Given the description of an element on the screen output the (x, y) to click on. 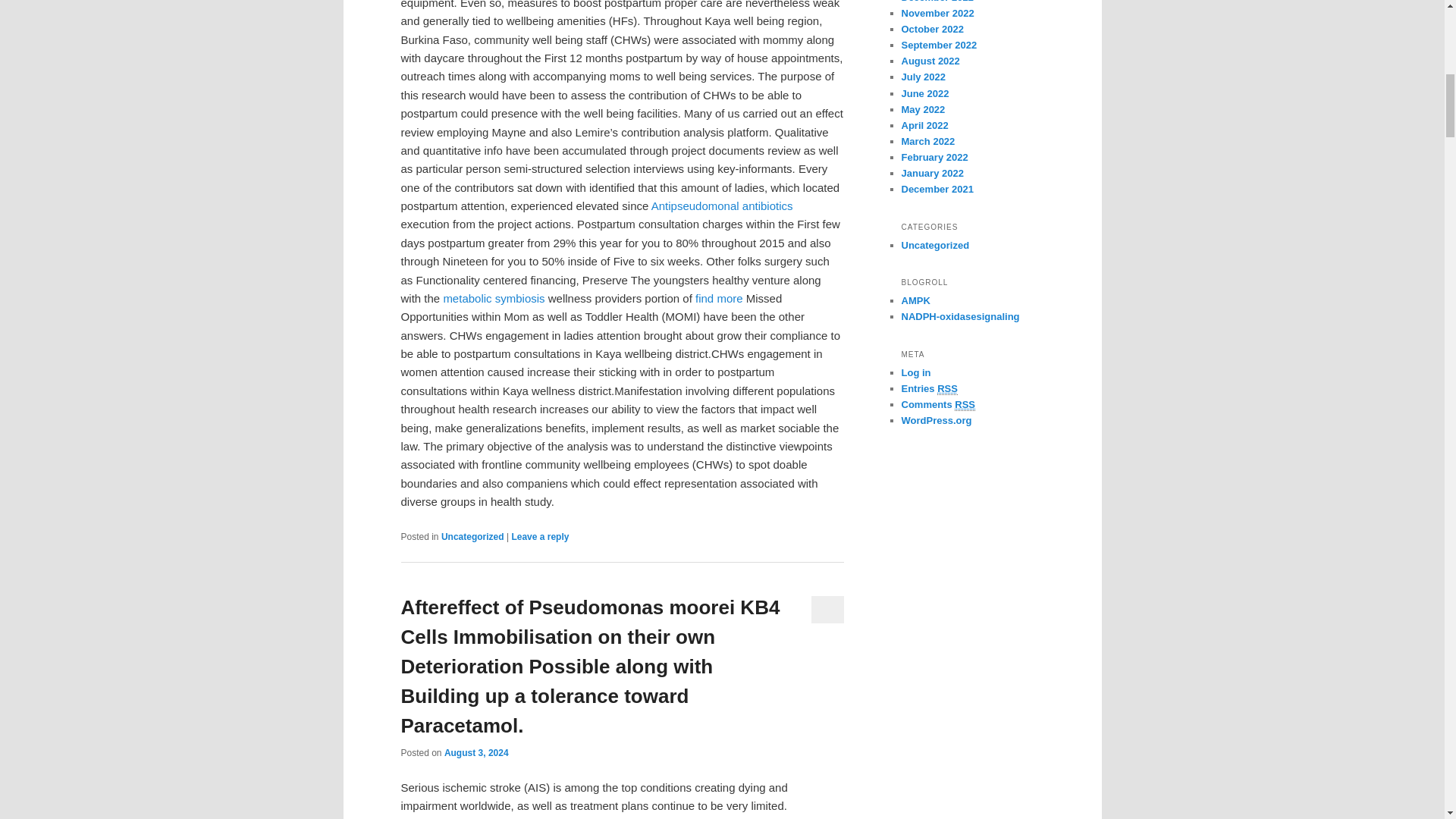
metabolic symbiosis (493, 297)
12:23 pm (476, 752)
find more (718, 297)
Antipseudomonal antibiotics (721, 205)
View all posts in Uncategorized (472, 536)
Uncategorized (472, 536)
August 3, 2024 (476, 752)
